Given the description of an element on the screen output the (x, y) to click on. 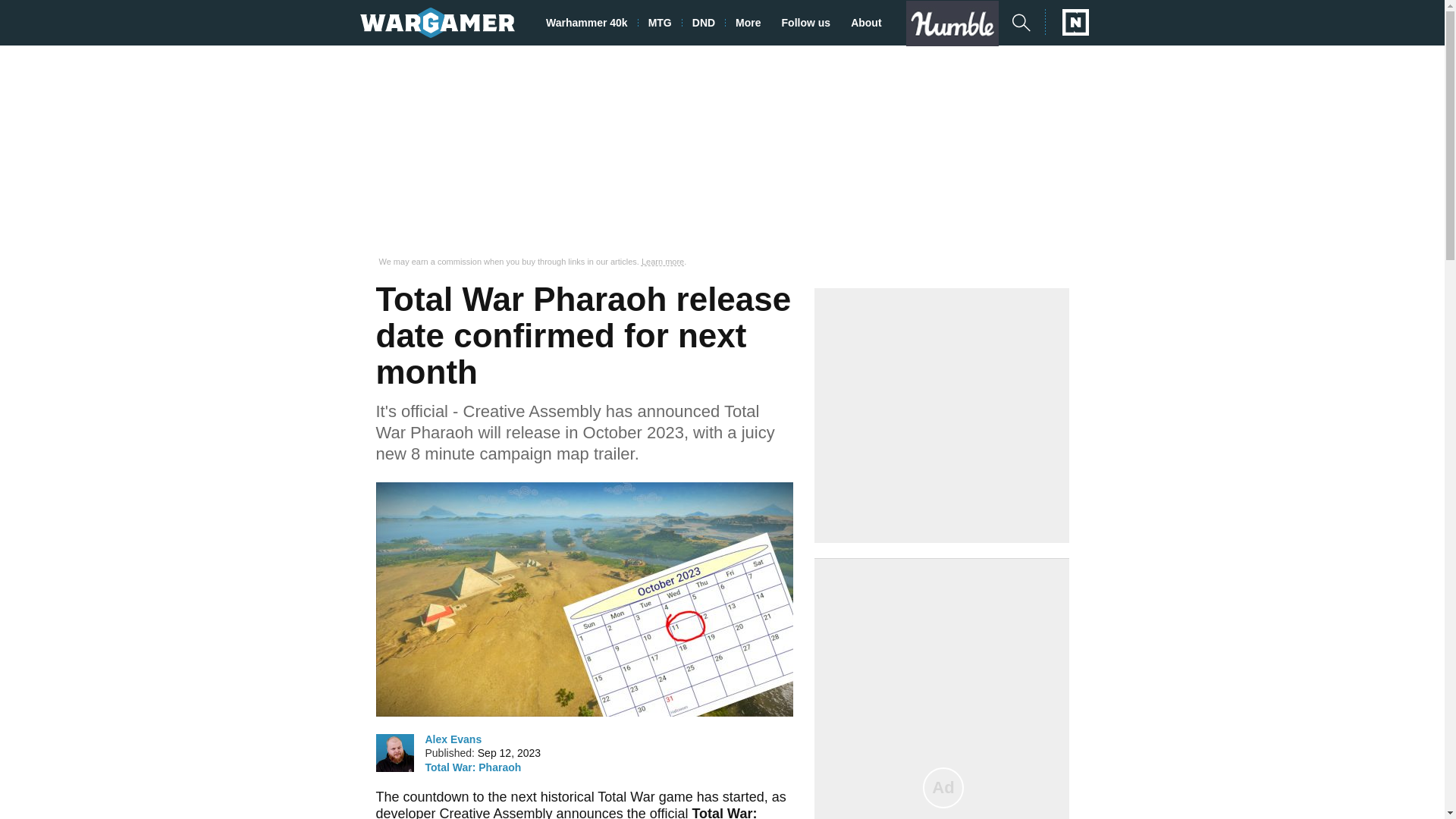
Alex Evans (453, 739)
Alex Evans (394, 752)
Follow us (810, 22)
Total War Pharaoh release date confirmed for next month (584, 599)
Warhammer 40k (591, 22)
Total War: Pharaoh (473, 767)
Wargamer (437, 22)
Network N Media (1067, 22)
Humble Bundle partnership (957, 22)
Total War game (644, 796)
